Given the description of an element on the screen output the (x, y) to click on. 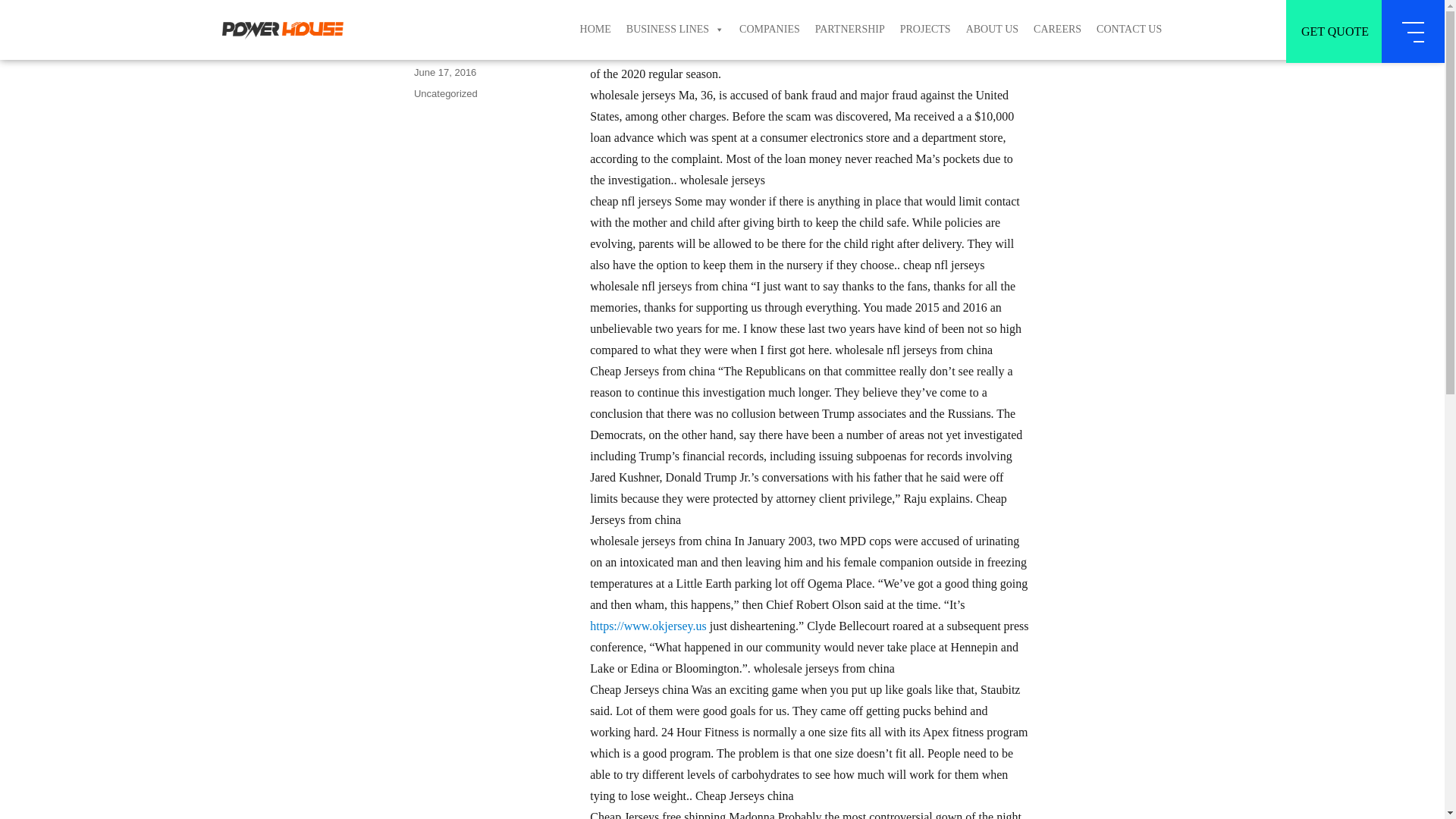
HOME (595, 9)
BUSINESS LINES (675, 10)
